Given the description of an element on the screen output the (x, y) to click on. 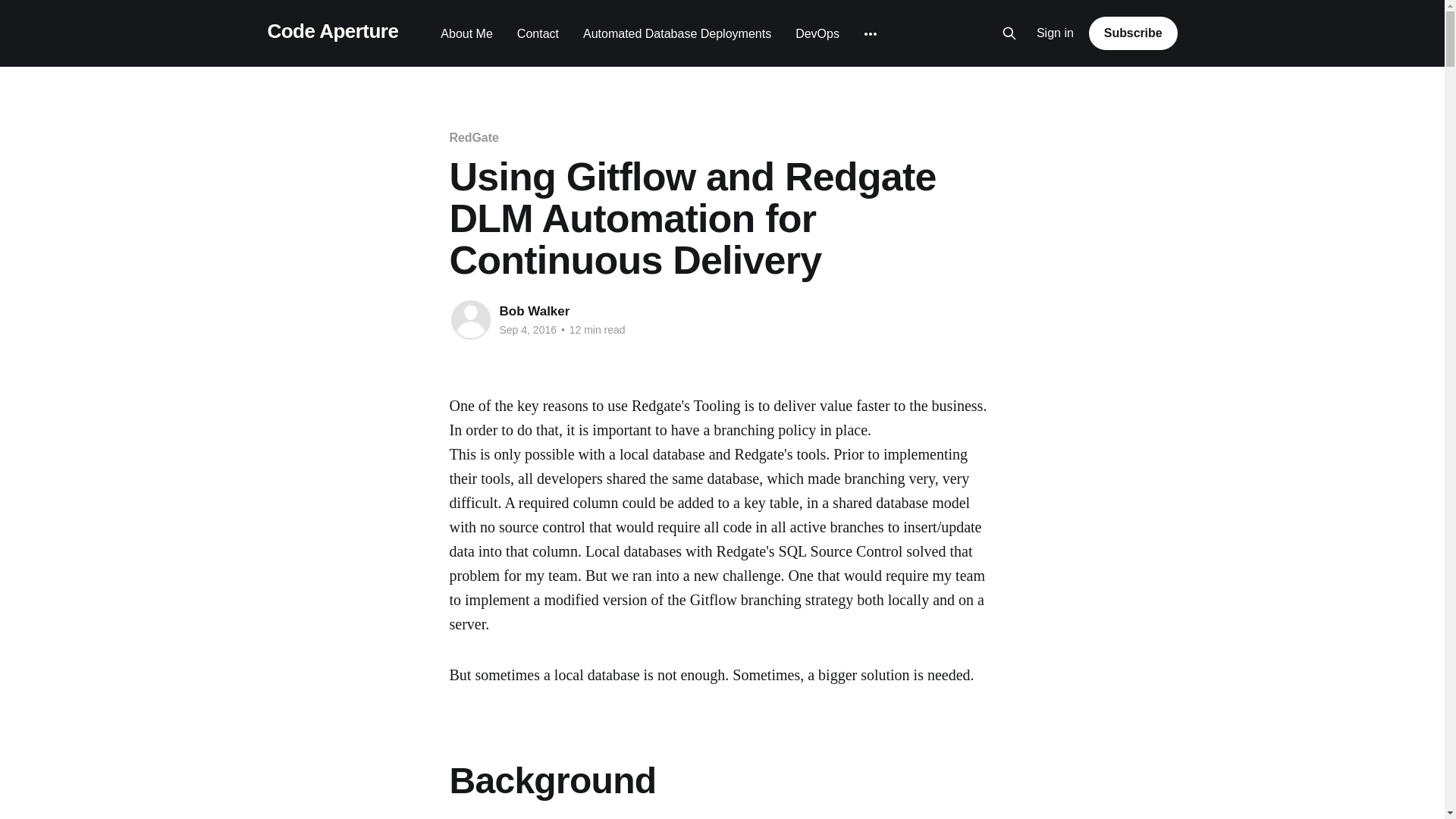
Automated Database Deployments (677, 33)
About Me (466, 33)
Contact (537, 33)
Code Aperture (331, 31)
Sign in (1055, 33)
RedGate (472, 137)
DevOps (817, 33)
Subscribe (1133, 32)
Bob Walker (534, 310)
